Given the description of an element on the screen output the (x, y) to click on. 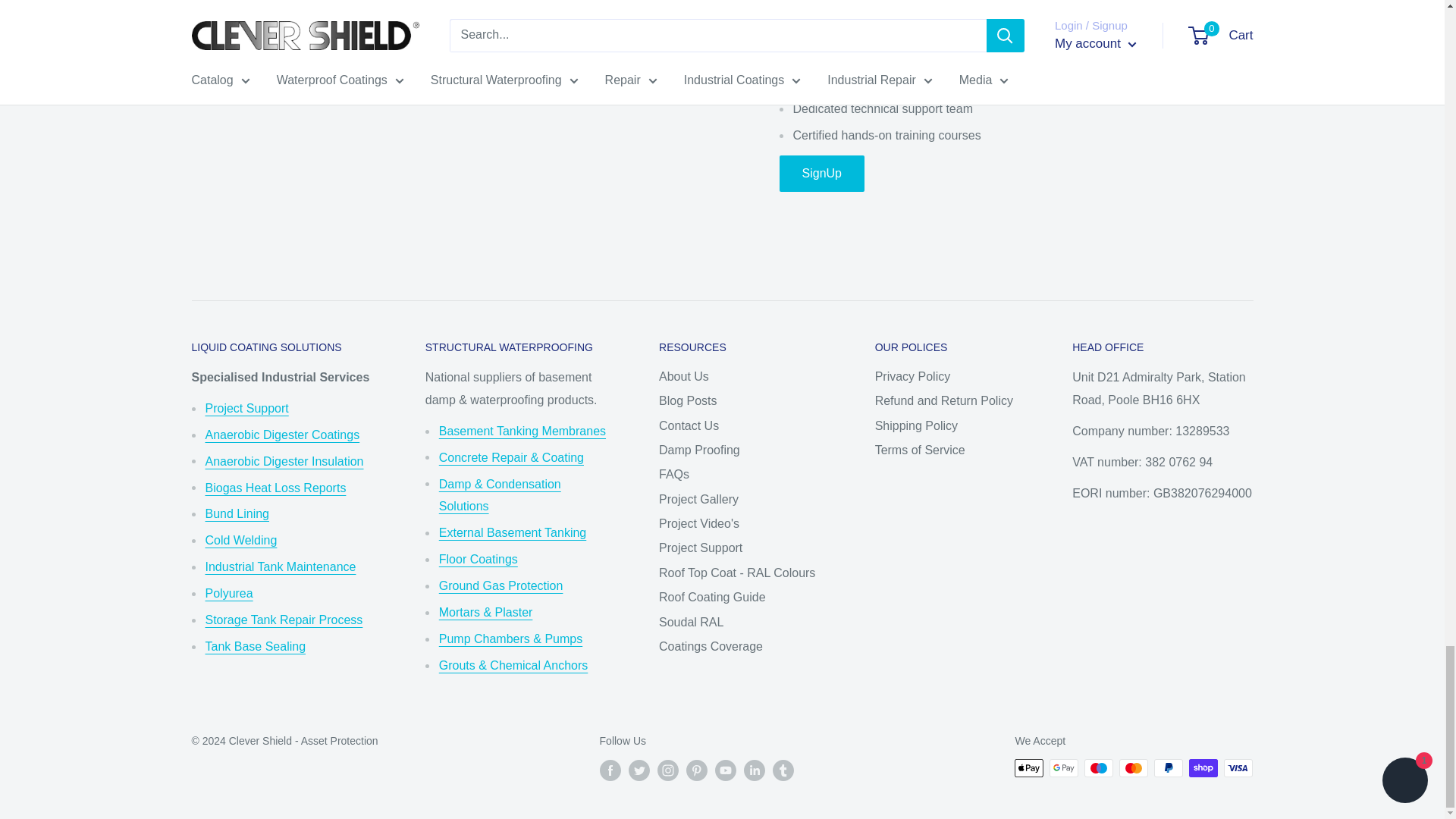
Gas Barrier Membranes (501, 585)
Damp Proofing (499, 495)
Application (246, 408)
Cementitious Waterproofers and Additives (511, 457)
Mortars and Plasters (485, 612)
Floor Coating Systems (478, 558)
Cavity Drain Membranes (522, 431)
Basement and Cellars Pump, Chambers and Alarms (510, 638)
External Type A Waterproofing (512, 532)
